Given the description of an element on the screen output the (x, y) to click on. 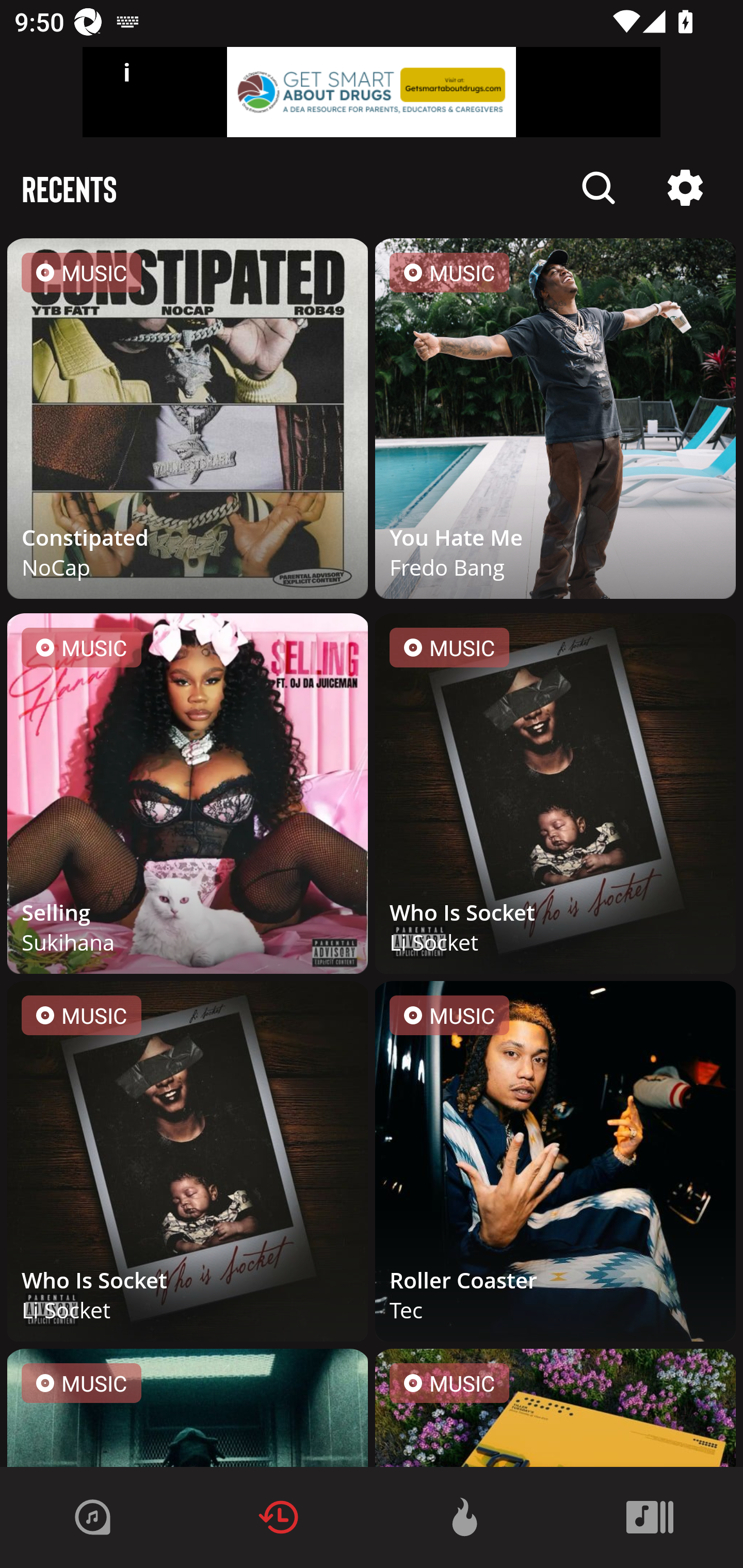
Description (598, 188)
Description (684, 188)
MUSIC Constipated NoCap (187, 422)
MUSIC You Hate Me Fredo Bang (555, 422)
MUSIC Selling Sukihana (187, 797)
MUSIC Who Is Socket Li Socket (555, 797)
MUSIC Who Is Socket Li Socket (187, 1164)
MUSIC Roller Coaster Tec (555, 1164)
